Given the description of an element on the screen output the (x, y) to click on. 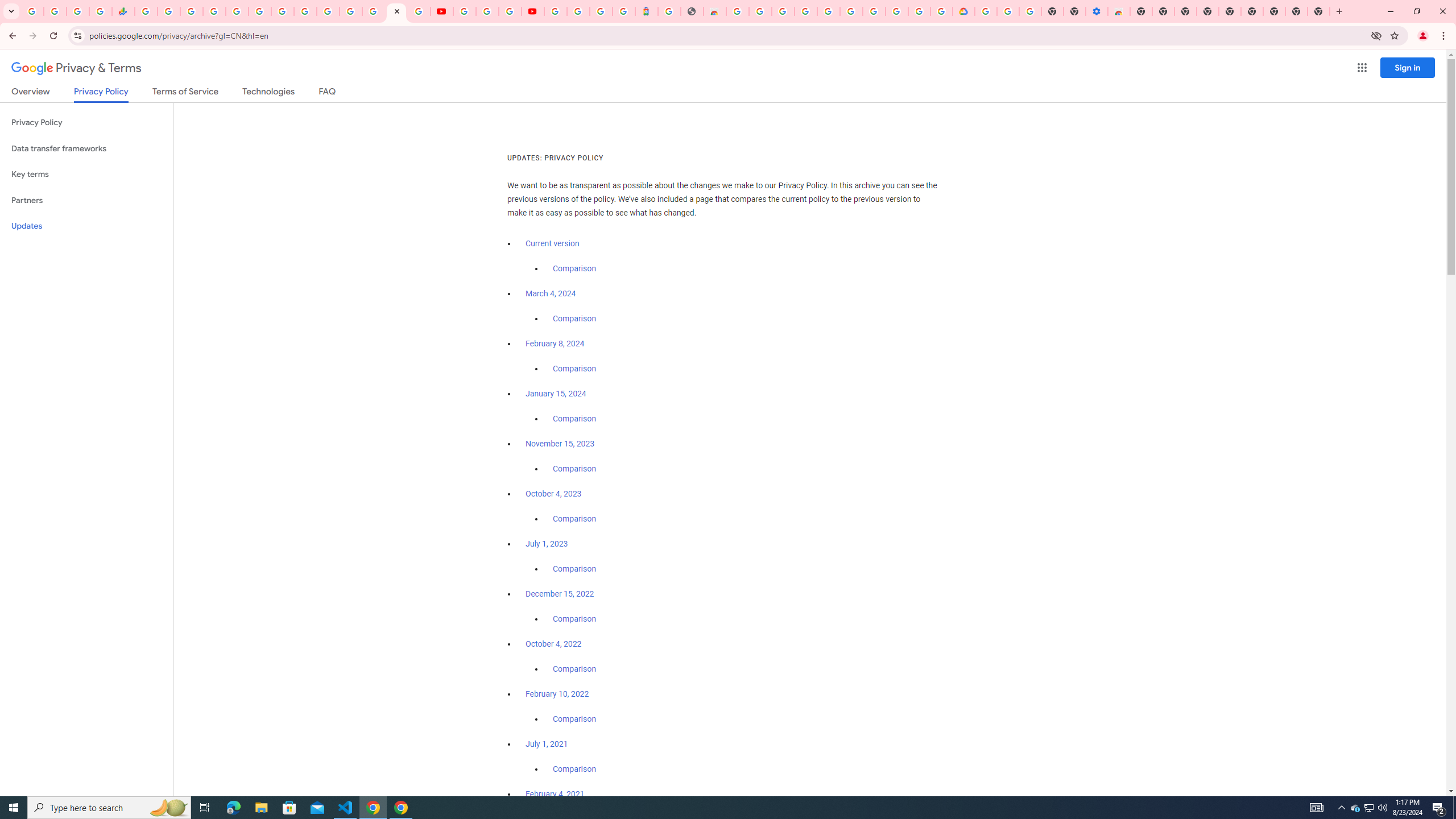
July 1, 2023 (546, 543)
Settings - Accessibility (1096, 11)
YouTube (304, 11)
Google Account Help (1008, 11)
Data transfer frameworks (86, 148)
Comparison (574, 768)
February 10, 2022 (557, 693)
